Given the description of an element on the screen output the (x, y) to click on. 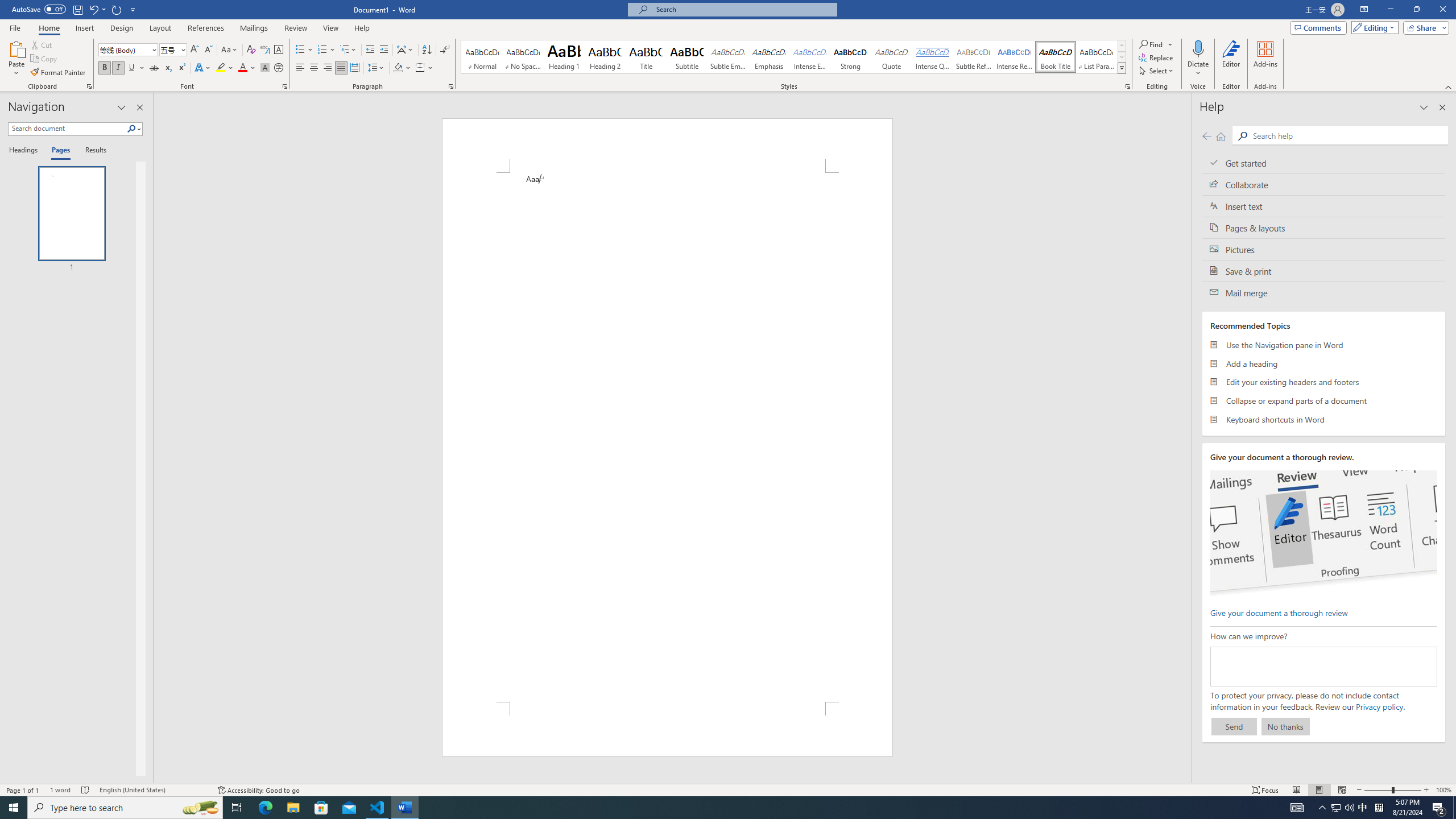
Previous page (1206, 136)
Give your document a thorough review (1278, 611)
Privacy policy (1379, 706)
How can we improve? (1323, 666)
